Given the description of an element on the screen output the (x, y) to click on. 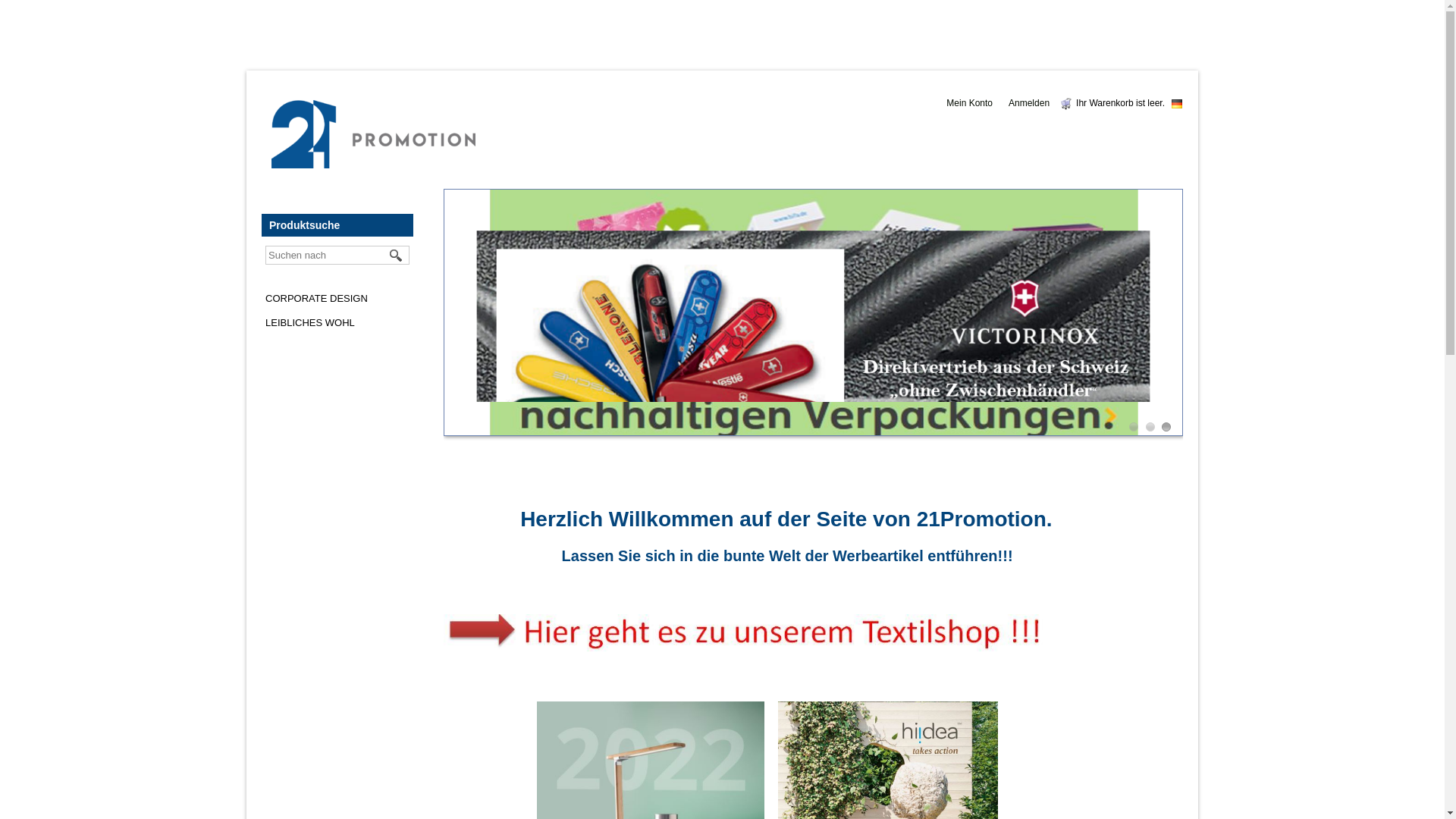
Land/Sprache wechseln: Deutschland (Deutsch) Element type: hover (1176, 103)
LEIBLICHES WOHL Element type: text (309, 322)
1 Element type: text (1133, 426)
3 Element type: text (1165, 426)
CORPORATE DESIGN Element type: text (316, 298)
Suche starten Element type: hover (396, 255)
Anmelden Element type: text (1032, 103)
2 Element type: text (1149, 426)
Textilshop Element type: hover (746, 632)
Mein Konto Element type: text (973, 103)
